Given the description of an element on the screen output the (x, y) to click on. 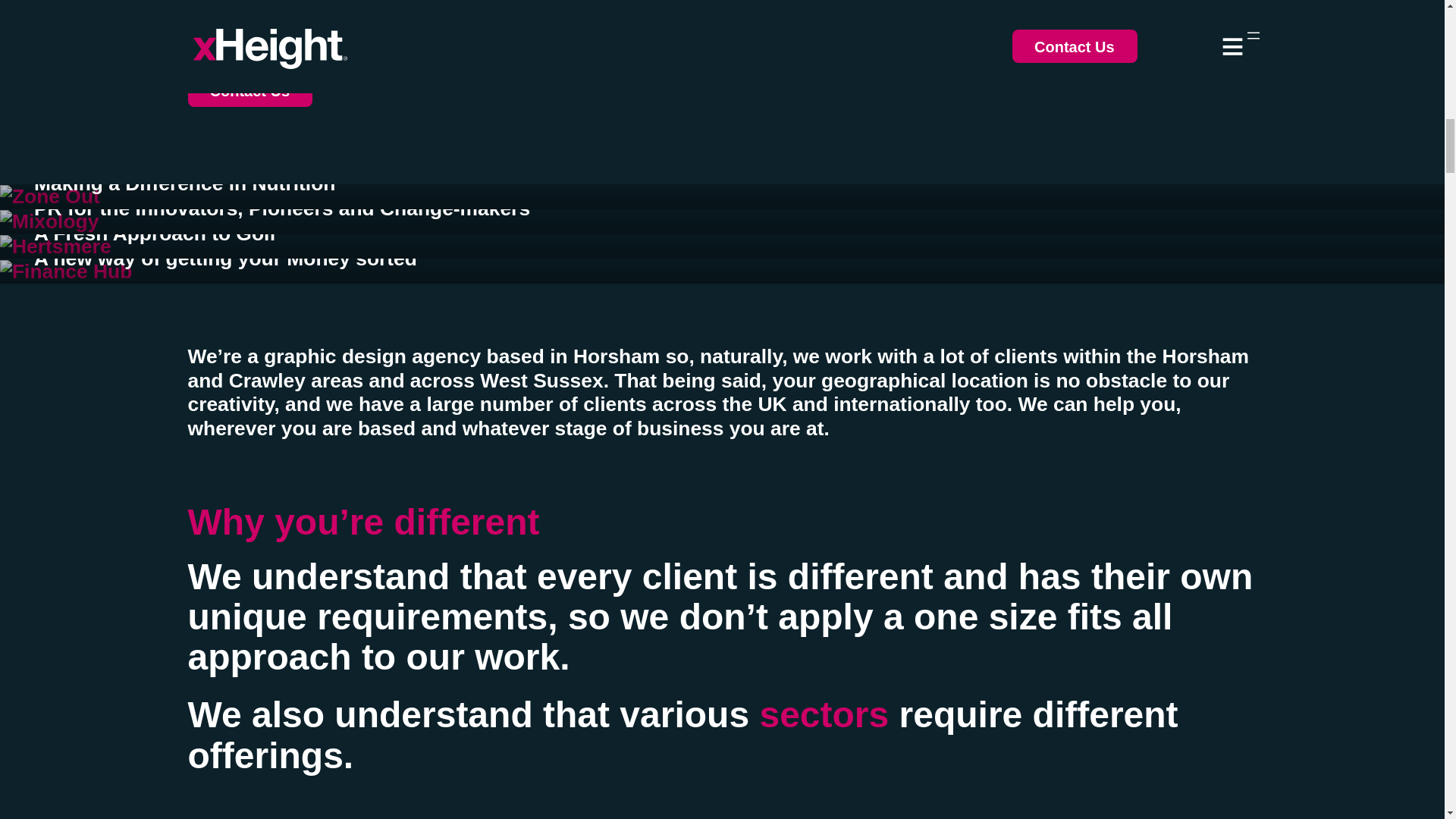
graphic design (258, 5)
sectors (823, 714)
branding services (462, 5)
Contact Us (250, 90)
